Given the description of an element on the screen output the (x, y) to click on. 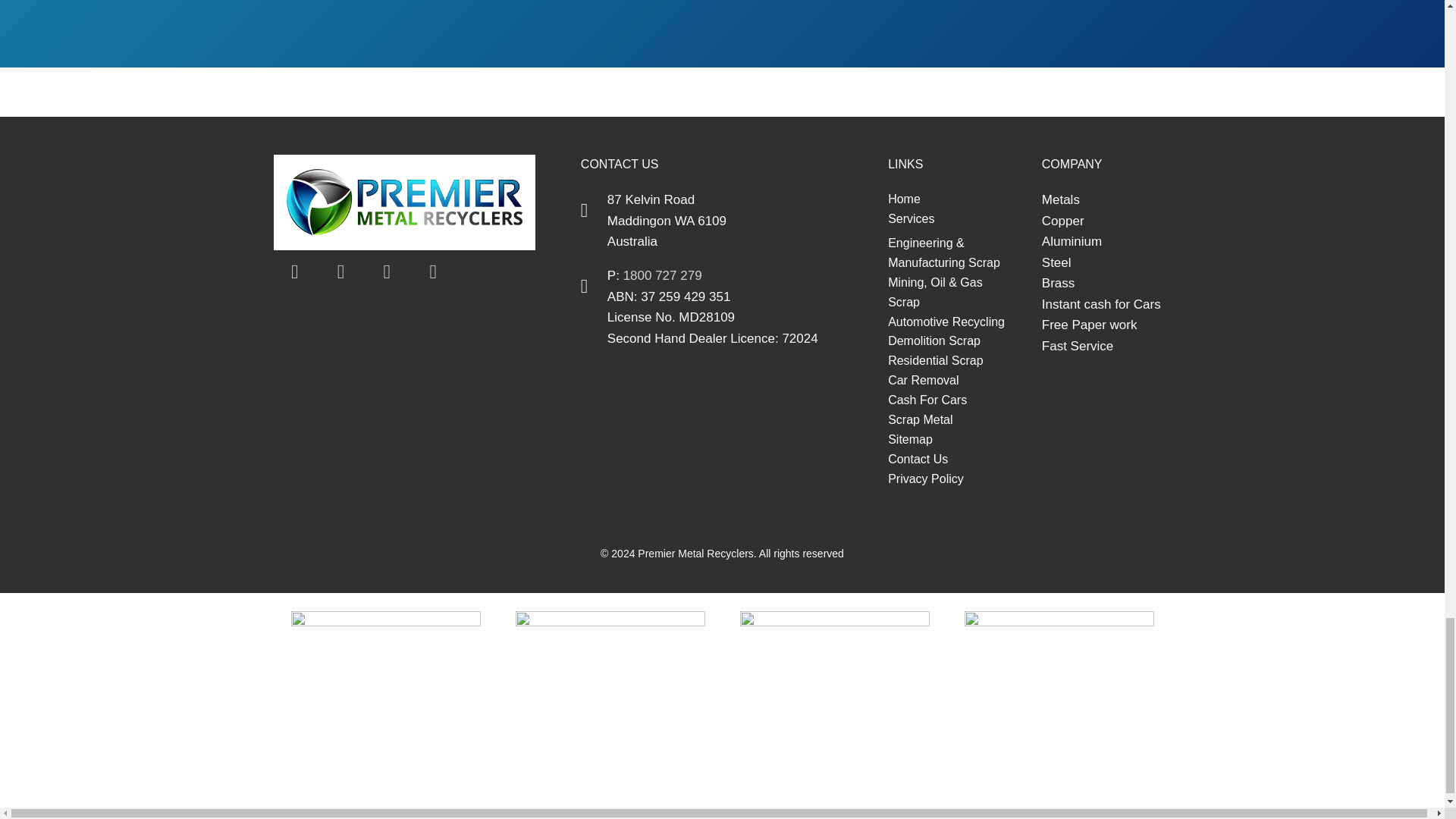
linkedin (386, 271)
Instagram (432, 271)
Twitter (340, 271)
Facebook (294, 271)
